Given the description of an element on the screen output the (x, y) to click on. 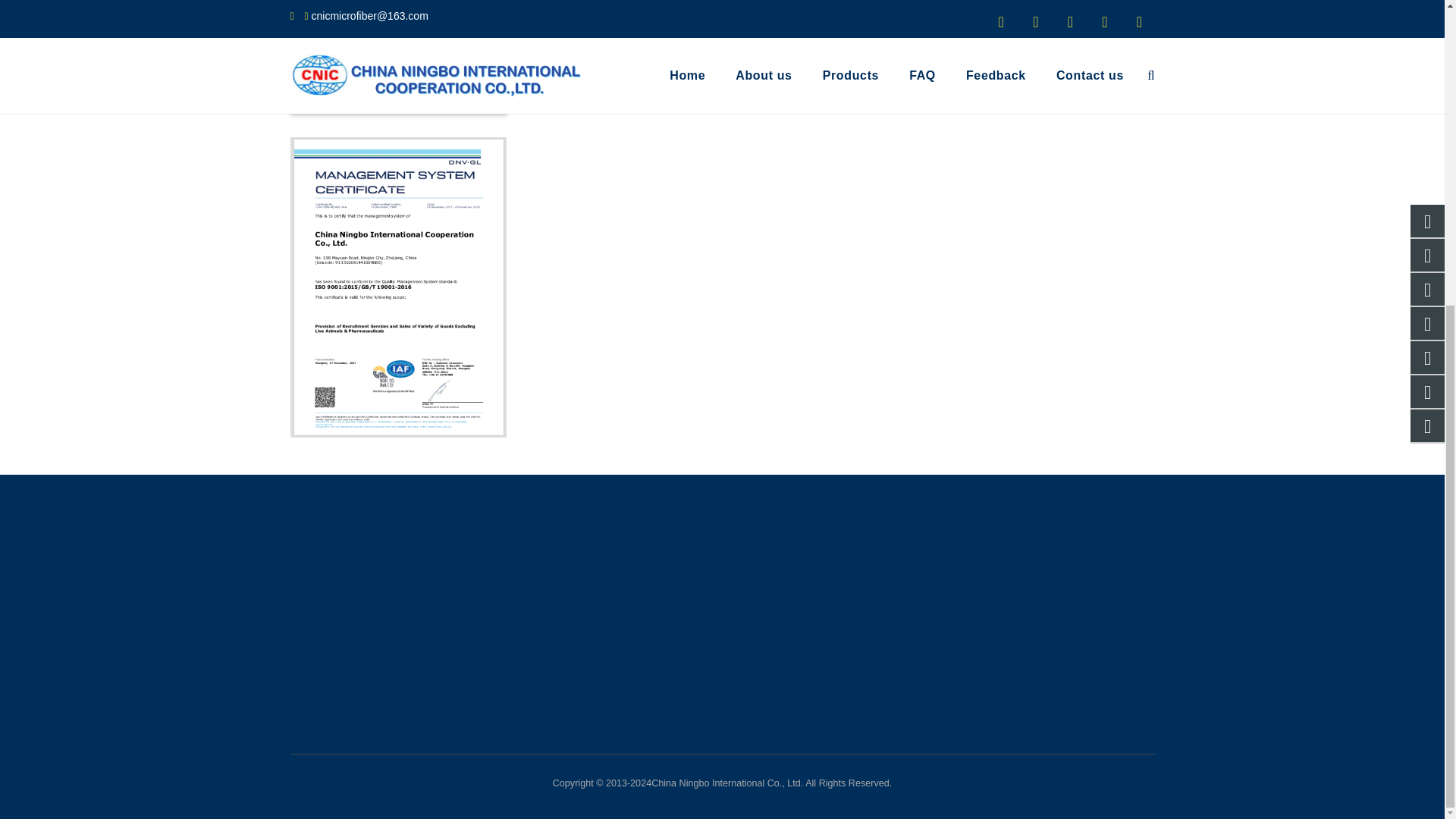
Linkedin (328, 92)
China-cnic (333, 58)
facebook (405, 58)
Google (388, 92)
Baidu (442, 92)
